Given the description of an element on the screen output the (x, y) to click on. 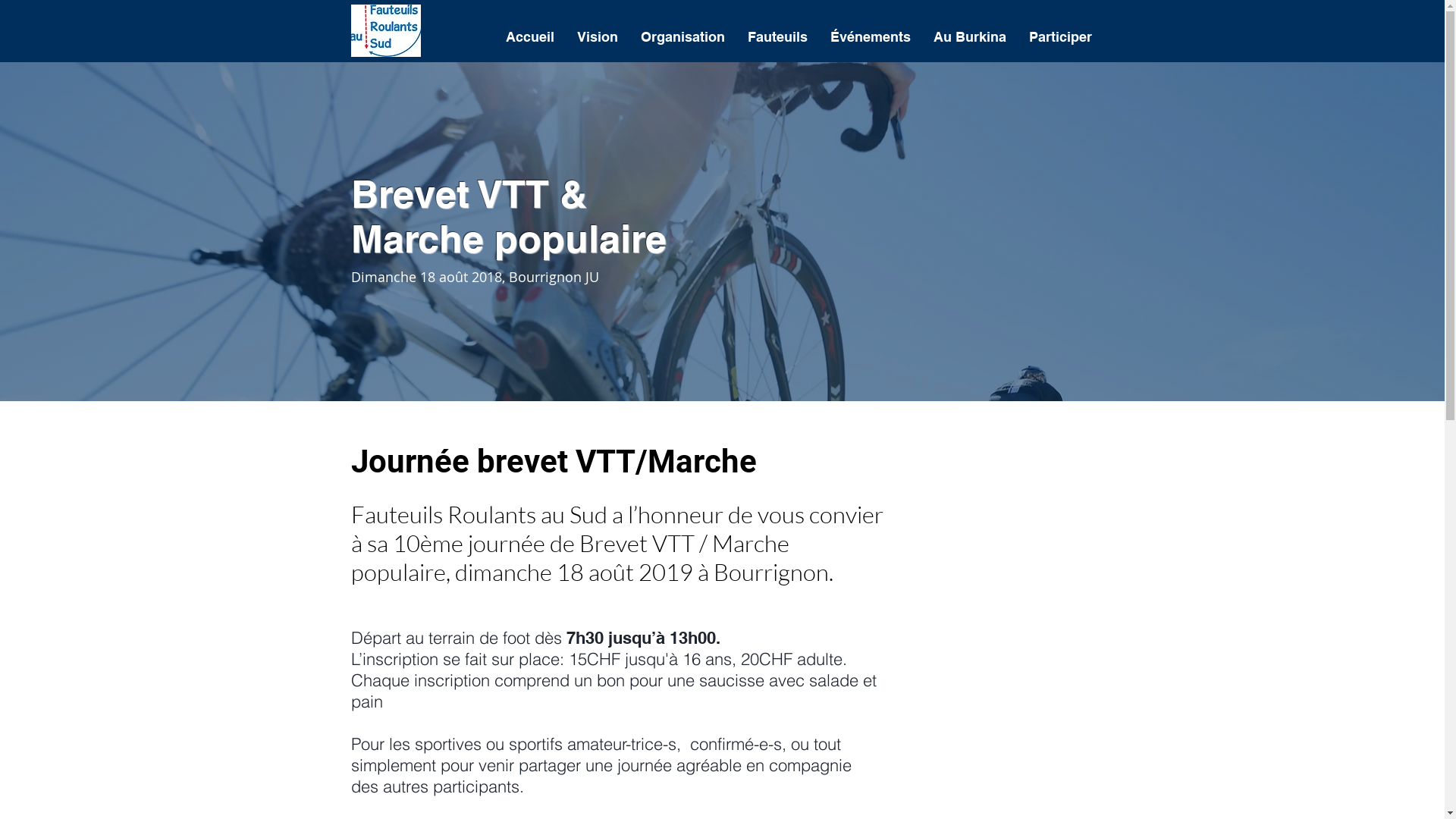
Organisation Element type: text (682, 37)
Au Burkina Element type: text (969, 37)
Participer Element type: text (1060, 37)
Accueil Element type: text (529, 37)
Vision Element type: text (597, 37)
Fauteuils Element type: text (776, 37)
